Given the description of an element on the screen output the (x, y) to click on. 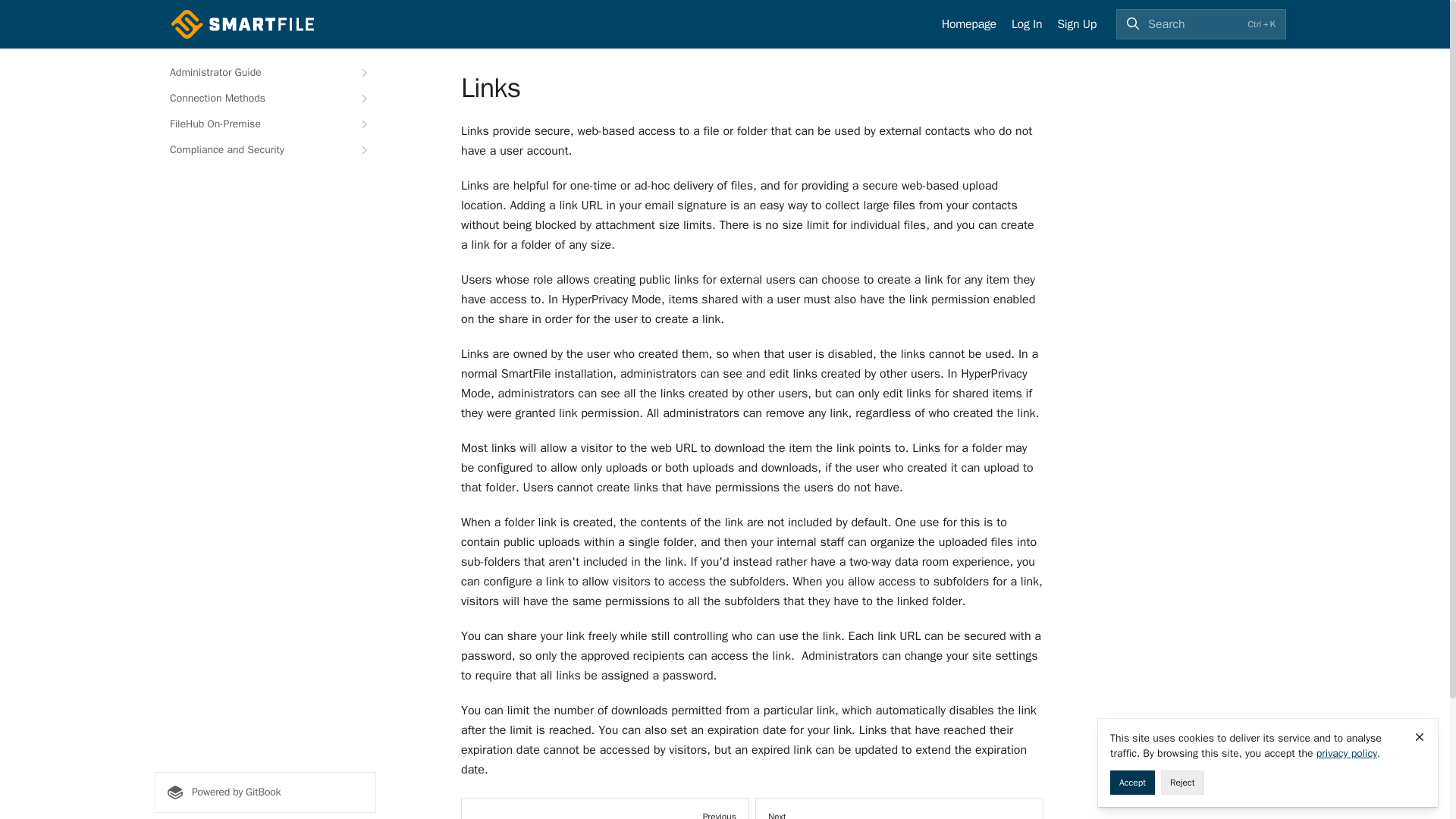
Homepage (968, 24)
Close (1419, 737)
Administrator Guide (264, 72)
Connection Methods (264, 98)
